Given the description of an element on the screen output the (x, y) to click on. 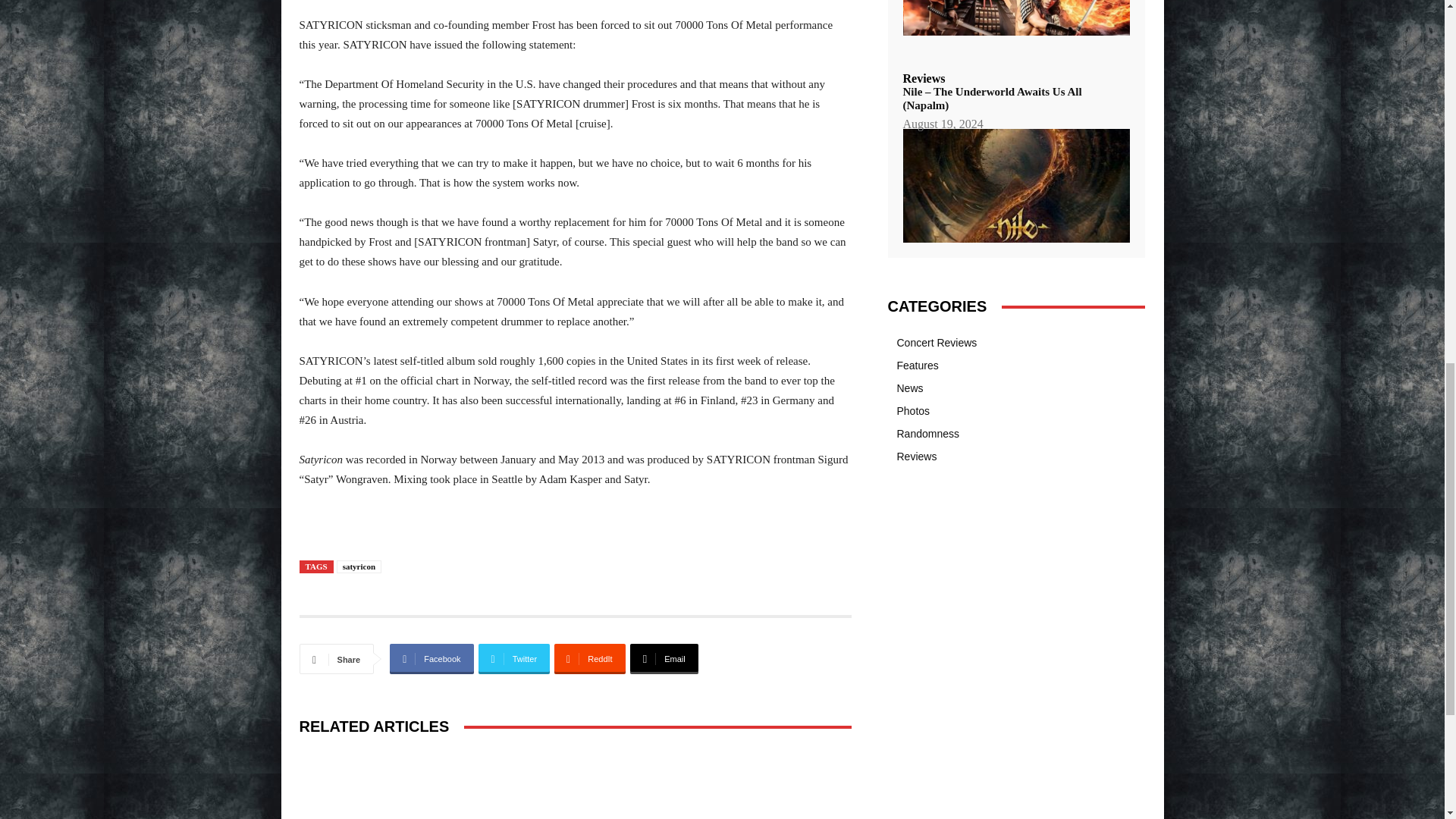
Twitter (514, 658)
Twitter (514, 658)
satyricon (358, 566)
Facebook (431, 658)
Email (664, 658)
Email (664, 658)
Facebook (431, 658)
ReddIt (590, 658)
ReddIt (590, 658)
